Given the description of an element on the screen output the (x, y) to click on. 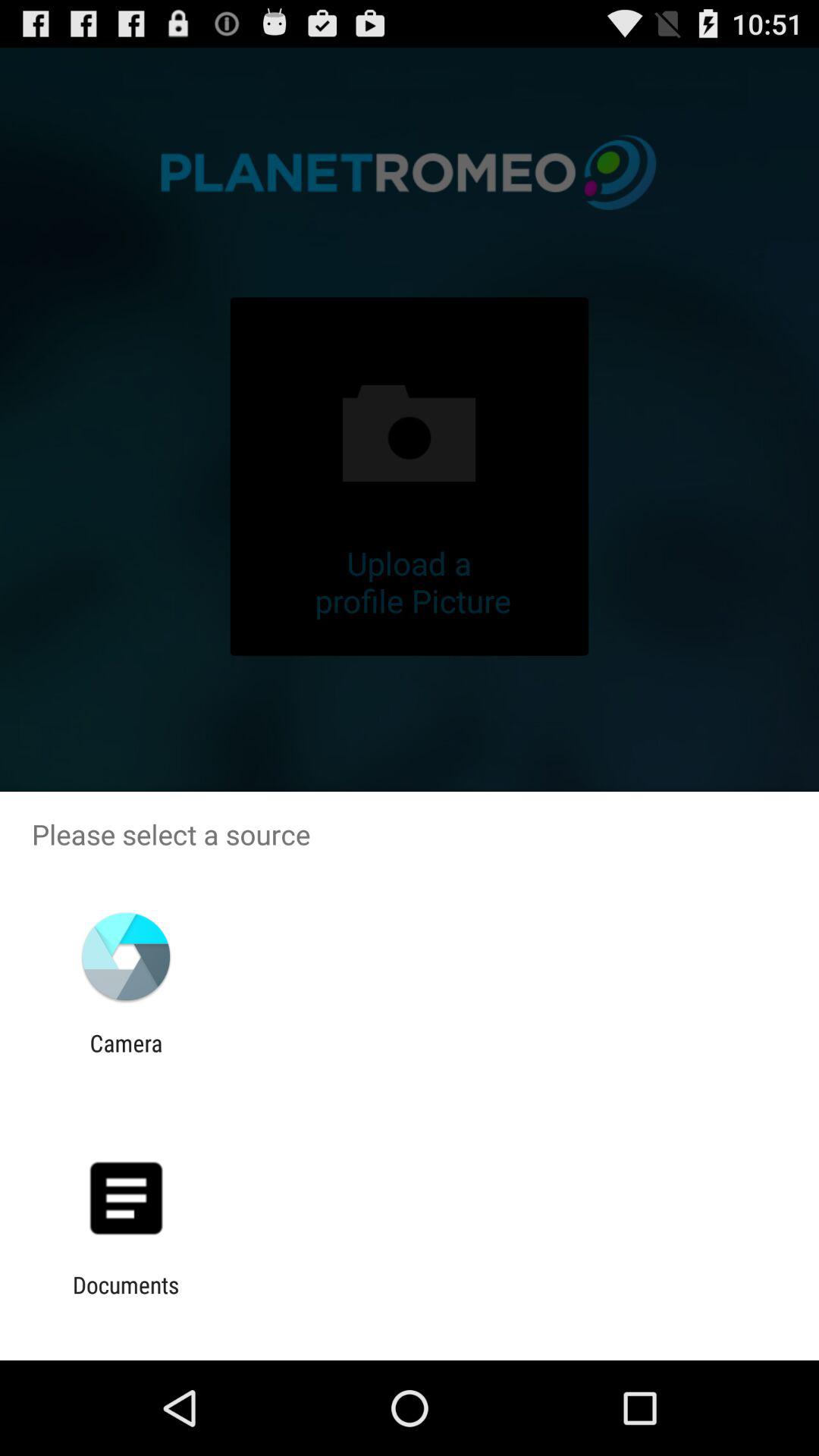
swipe to camera icon (125, 1056)
